Given the description of an element on the screen output the (x, y) to click on. 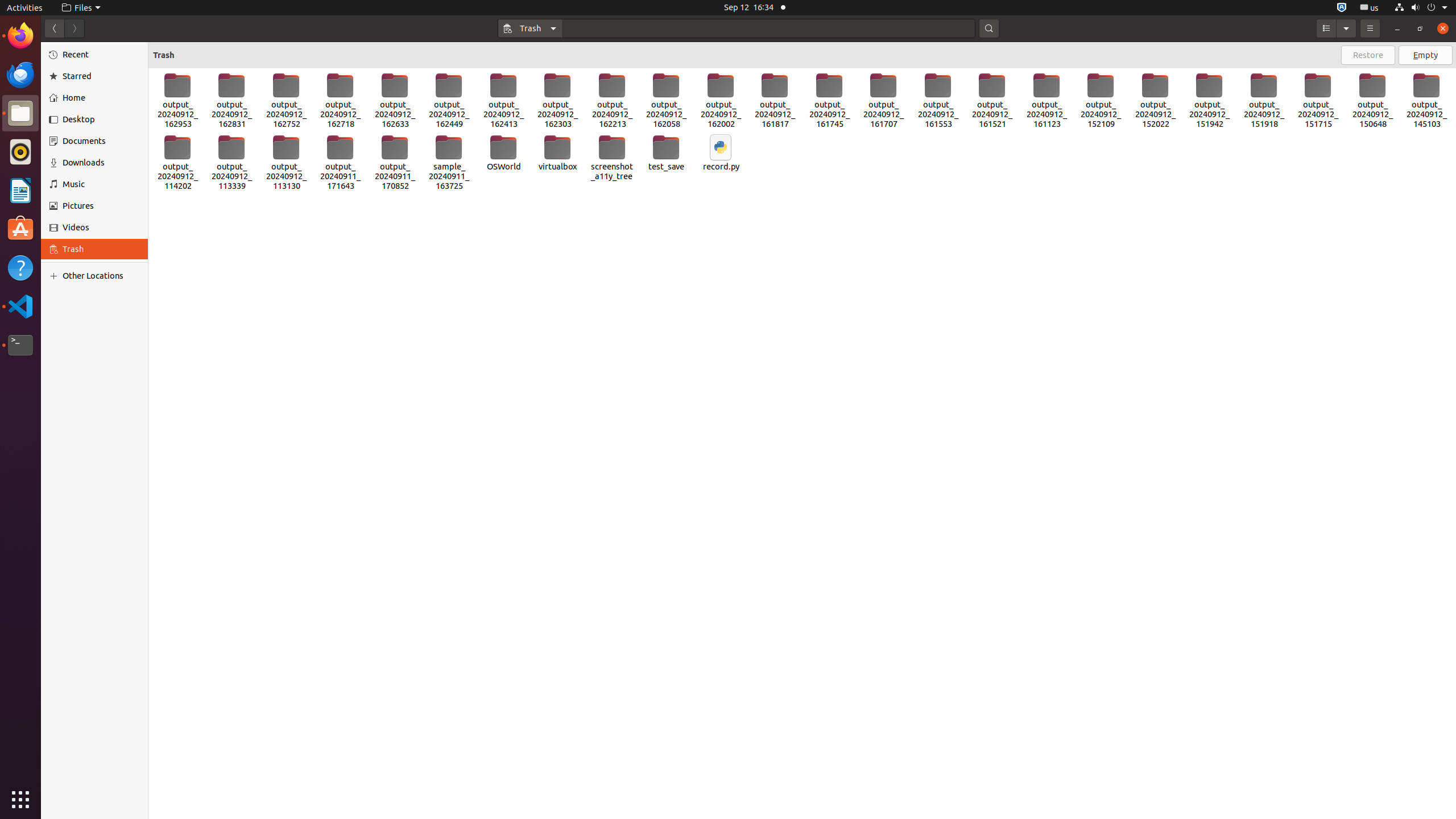
output_20240912_161553 Element type: canvas (937, 100)
Pictures Element type: label (100, 205)
output_20240912_113130 Element type: canvas (285, 162)
output_20240911_170852 Element type: canvas (394, 162)
